Given the description of an element on the screen output the (x, y) to click on. 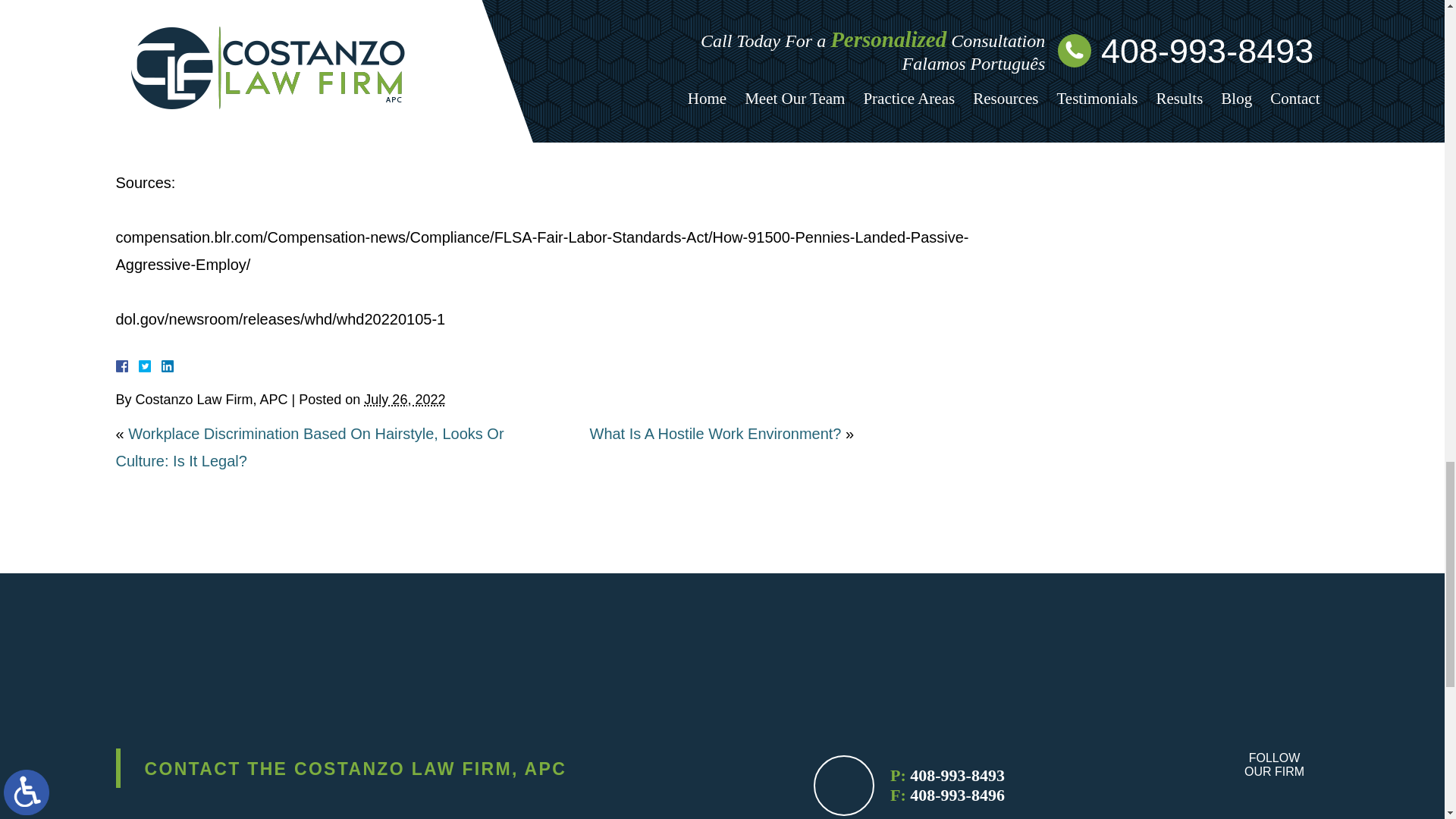
Twitter (149, 366)
2022-07-26T03:00:24-0700 (404, 399)
Facebook (139, 366)
LinkedIn (160, 366)
